Given the description of an element on the screen output the (x, y) to click on. 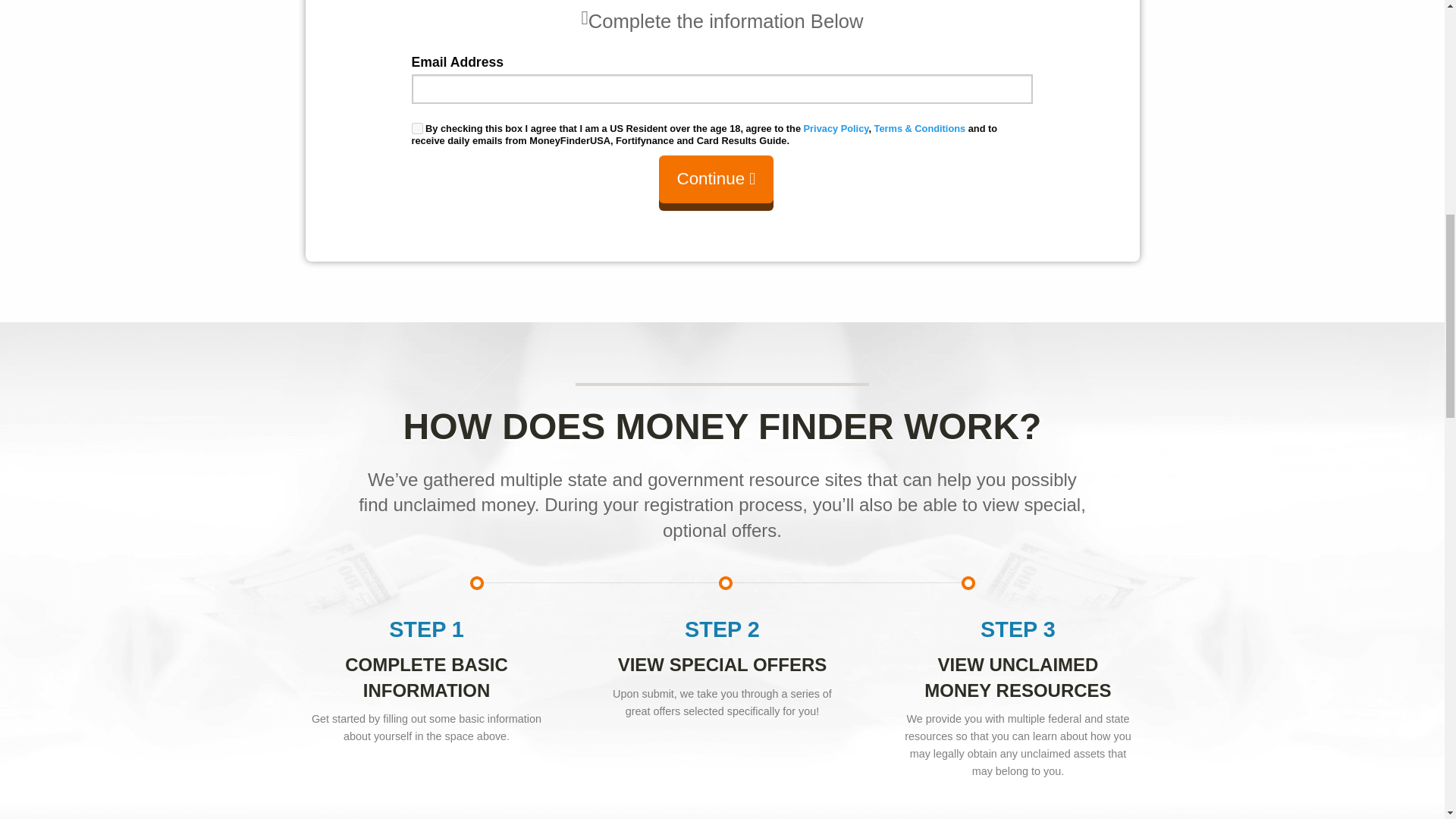
Privacy Policy (836, 128)
Continue (716, 182)
on (416, 128)
